Given the description of an element on the screen output the (x, y) to click on. 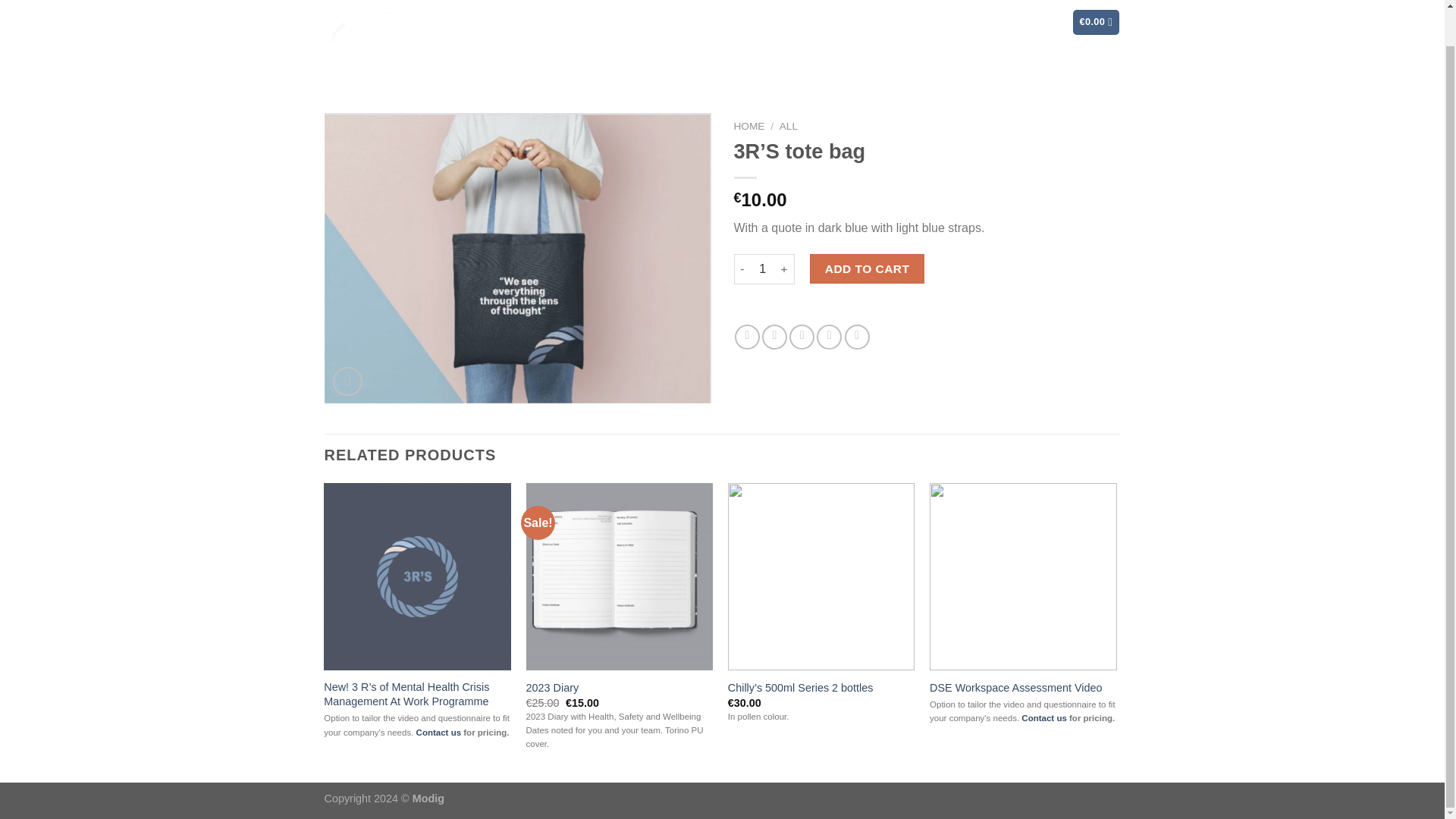
Contact us (1044, 717)
Cart (1096, 22)
ALL (787, 125)
tote bag1 (517, 258)
Zoom (347, 381)
Modig - Corporate Services (389, 25)
CONTACT US (1001, 22)
SHOP (927, 22)
HOME (749, 125)
Share on LinkedIn (856, 336)
